Given the description of an element on the screen output the (x, y) to click on. 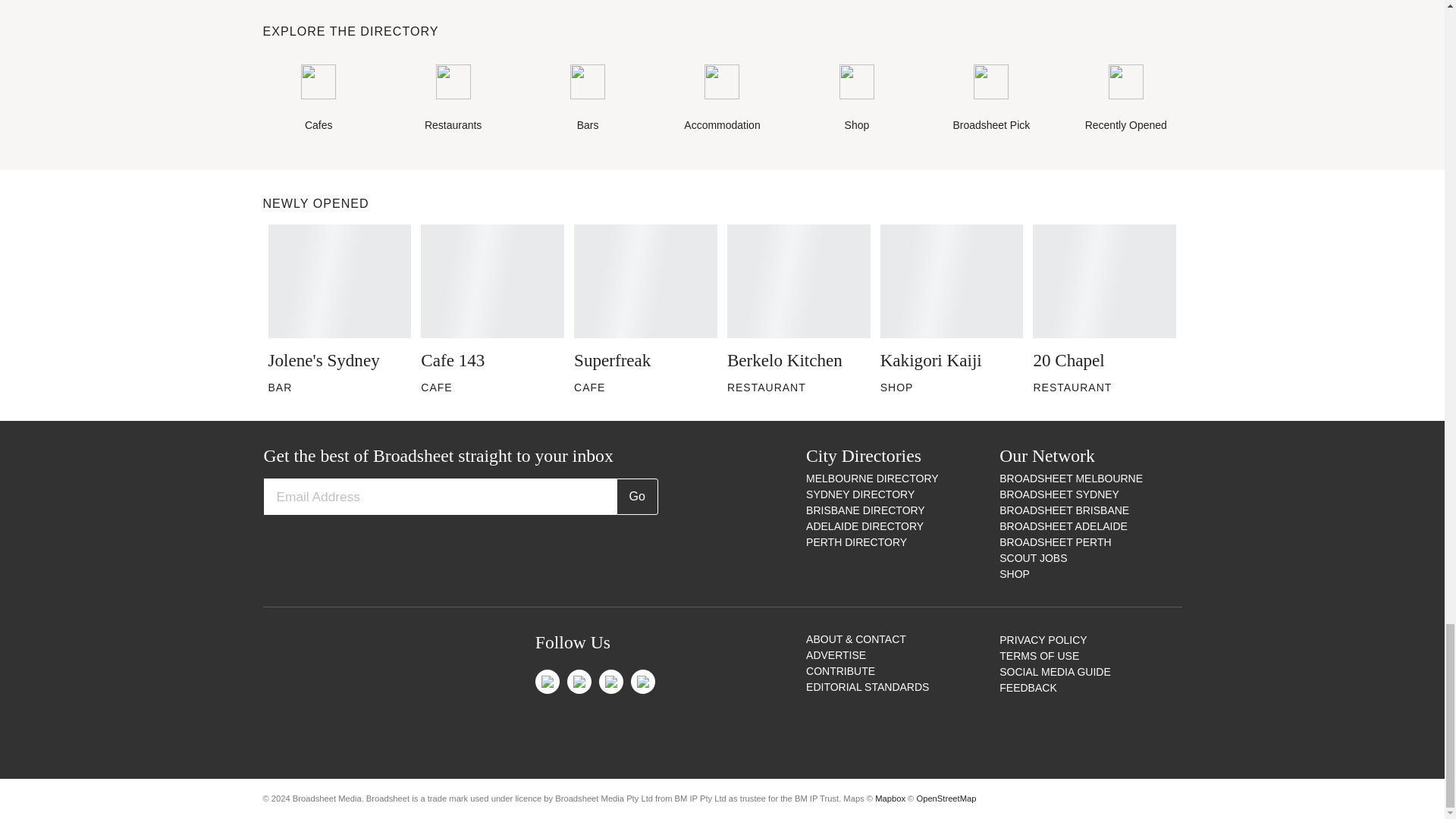
Recently Opened (1125, 98)
Shop (856, 98)
Accommodation (721, 98)
Bars (587, 98)
Broadsheet Pick (991, 98)
Shop (856, 98)
Cafes (318, 98)
Accommodation (721, 98)
Bars (587, 98)
Broadsheet Pick (991, 98)
Restaurants (452, 98)
Restaurants (452, 98)
Cafes (318, 98)
